Given the description of an element on the screen output the (x, y) to click on. 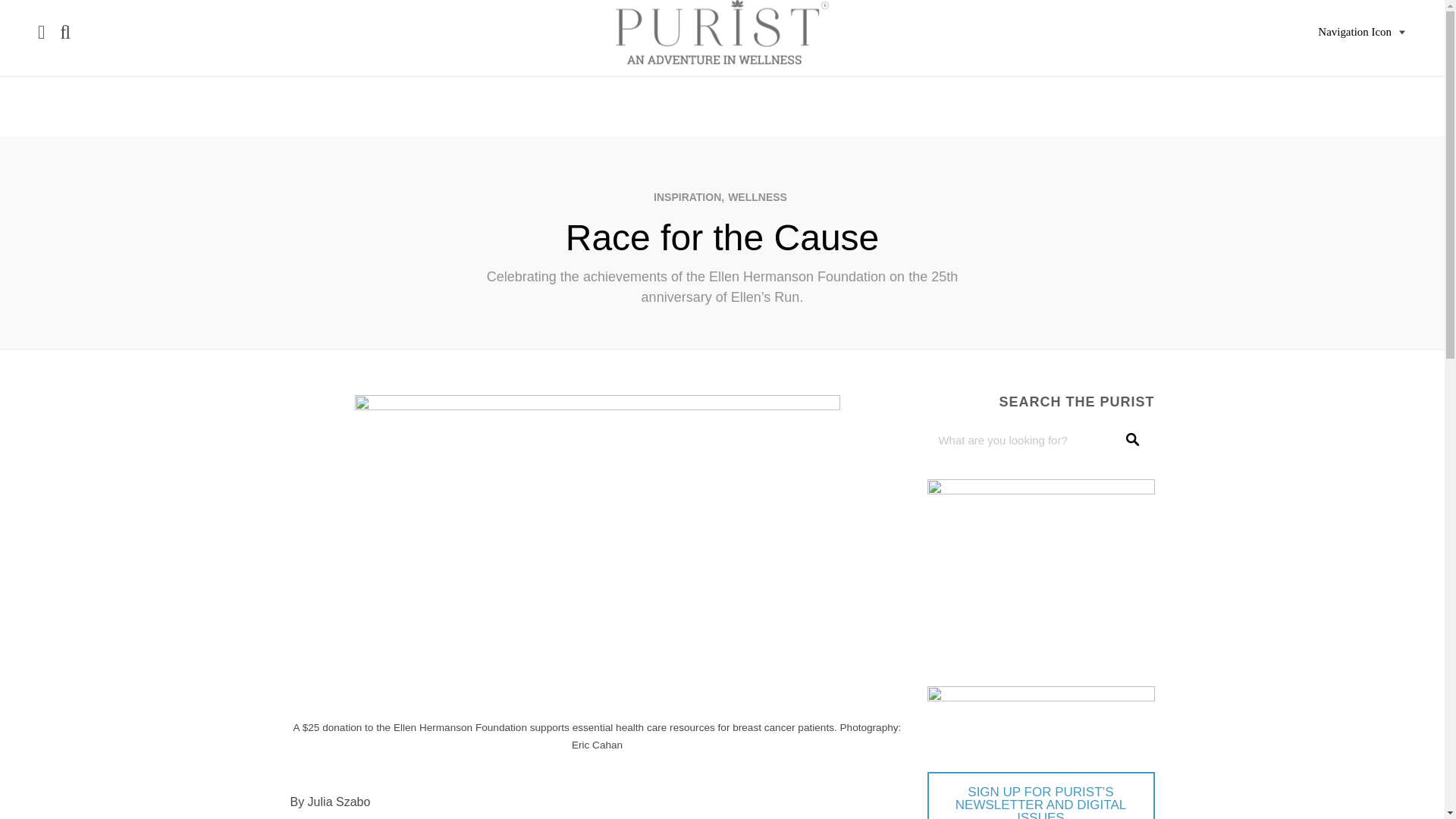
Click here to sign up for THE PURIST newsletter (1040, 795)
Navigation Icon (1361, 31)
